Given the description of an element on the screen output the (x, y) to click on. 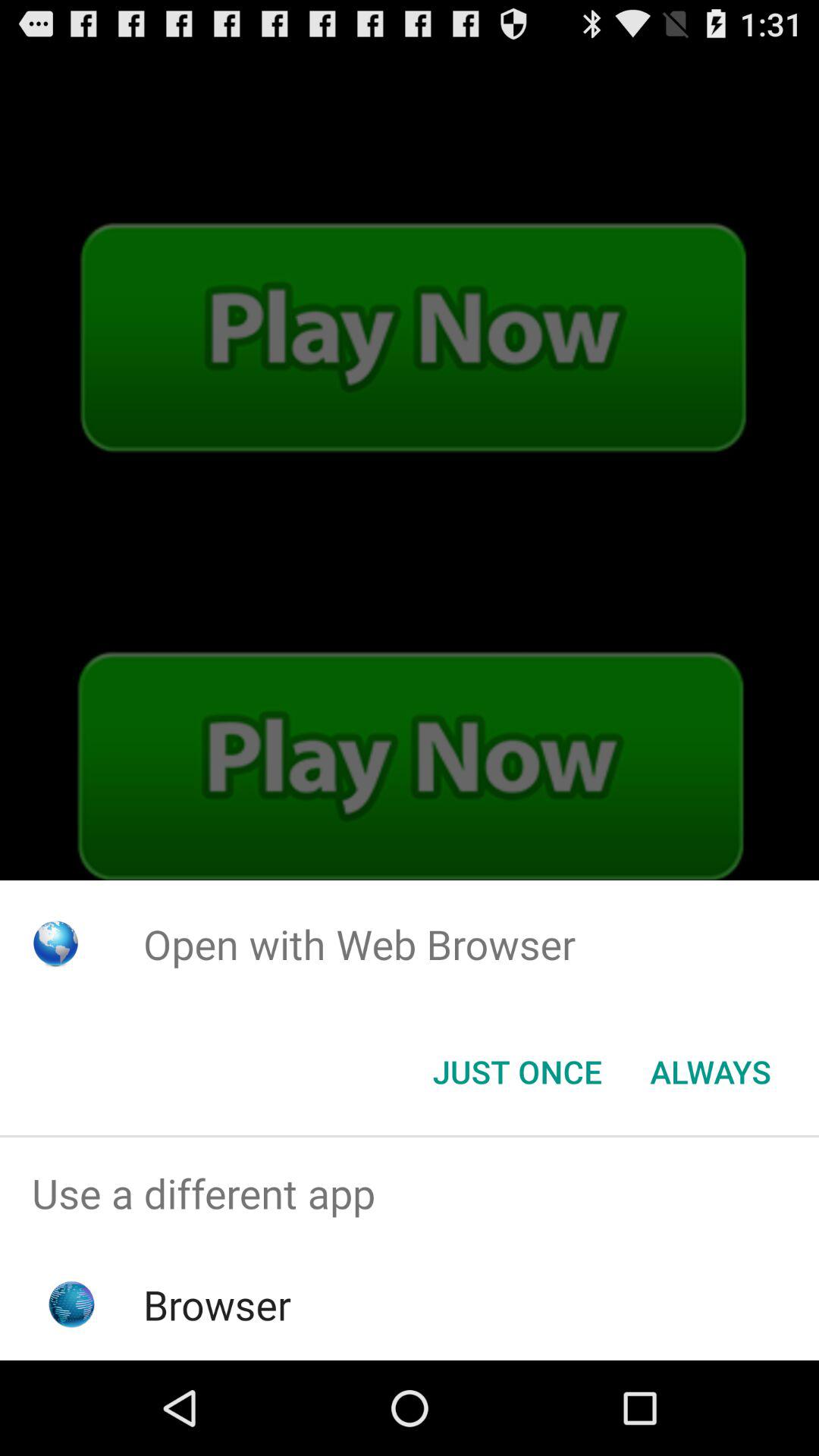
launch icon next to always icon (517, 1071)
